Given the description of an element on the screen output the (x, y) to click on. 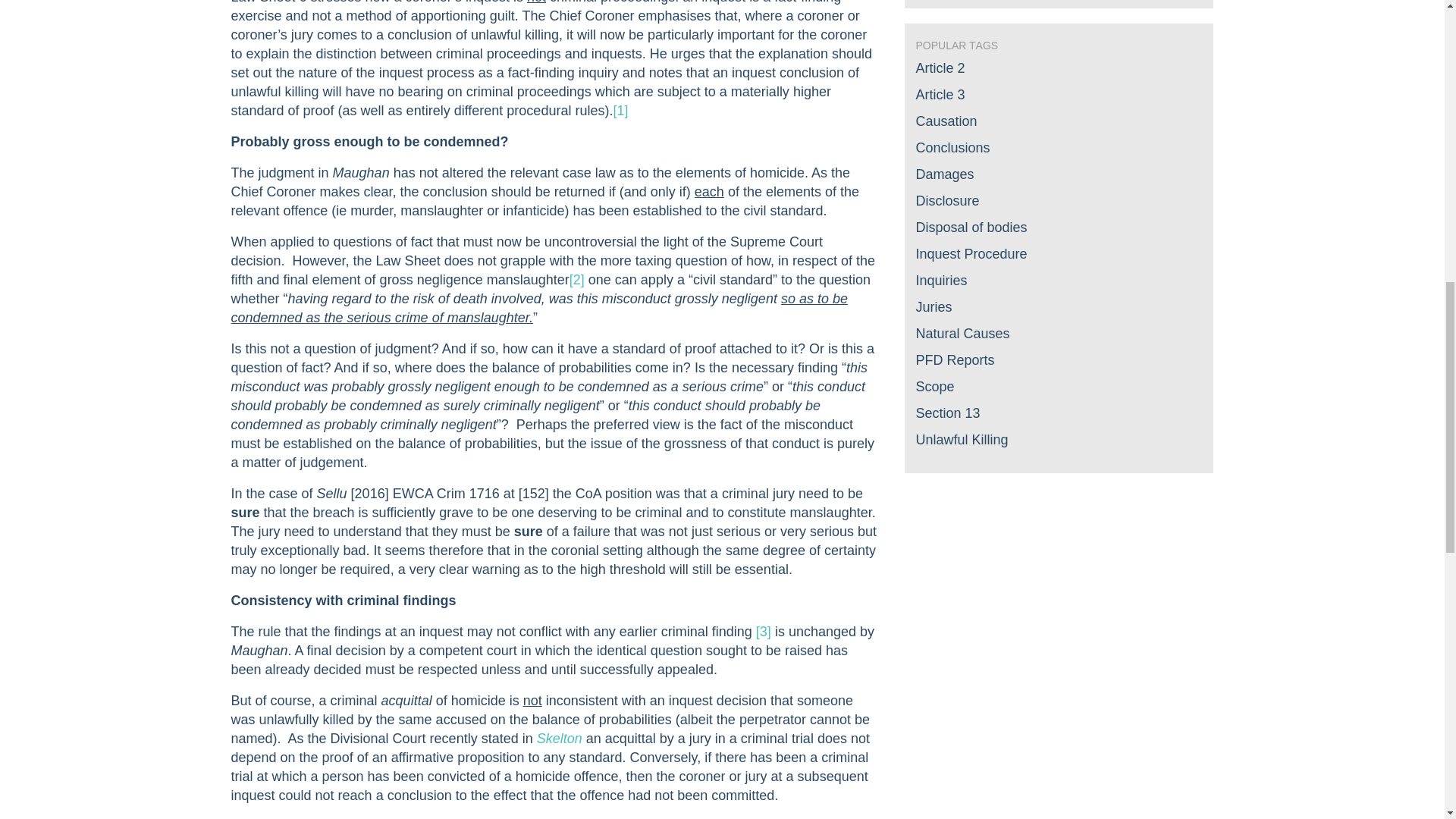
Causation (945, 120)
Conclusions (952, 147)
Disposal of bodies (971, 227)
Skelton (559, 738)
Article 2 (940, 68)
Disclosure (947, 200)
Damages (944, 174)
Article 3 (940, 94)
